Given the description of an element on the screen output the (x, y) to click on. 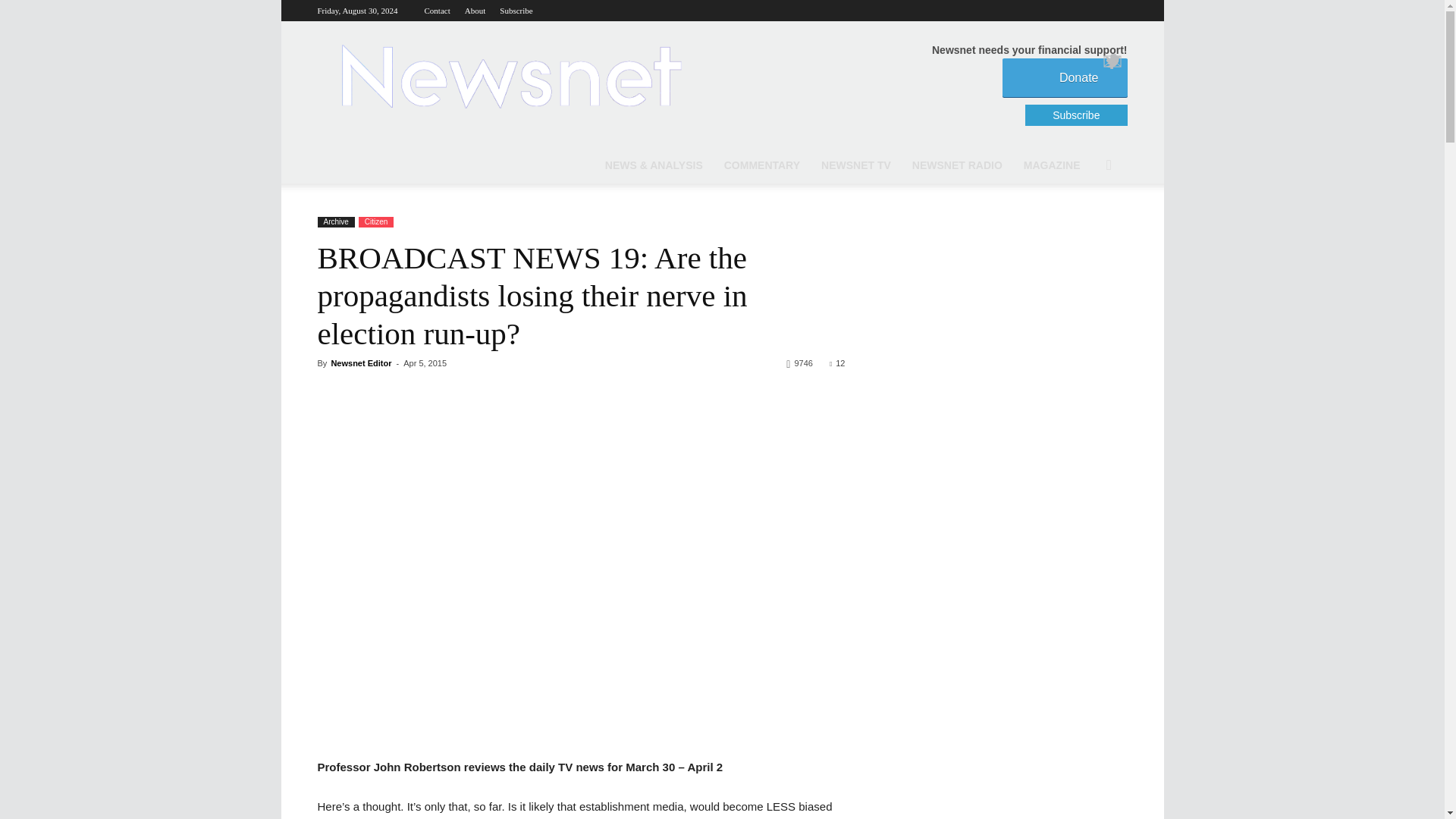
Newsnet Editor (360, 362)
Search (1086, 225)
Donate (1064, 77)
Citizen (376, 222)
NEWSNET TV (855, 165)
Contact (437, 10)
COMMENTARY (761, 165)
12 (837, 362)
About (475, 10)
Subscribe (515, 10)
